Given the description of an element on the screen output the (x, y) to click on. 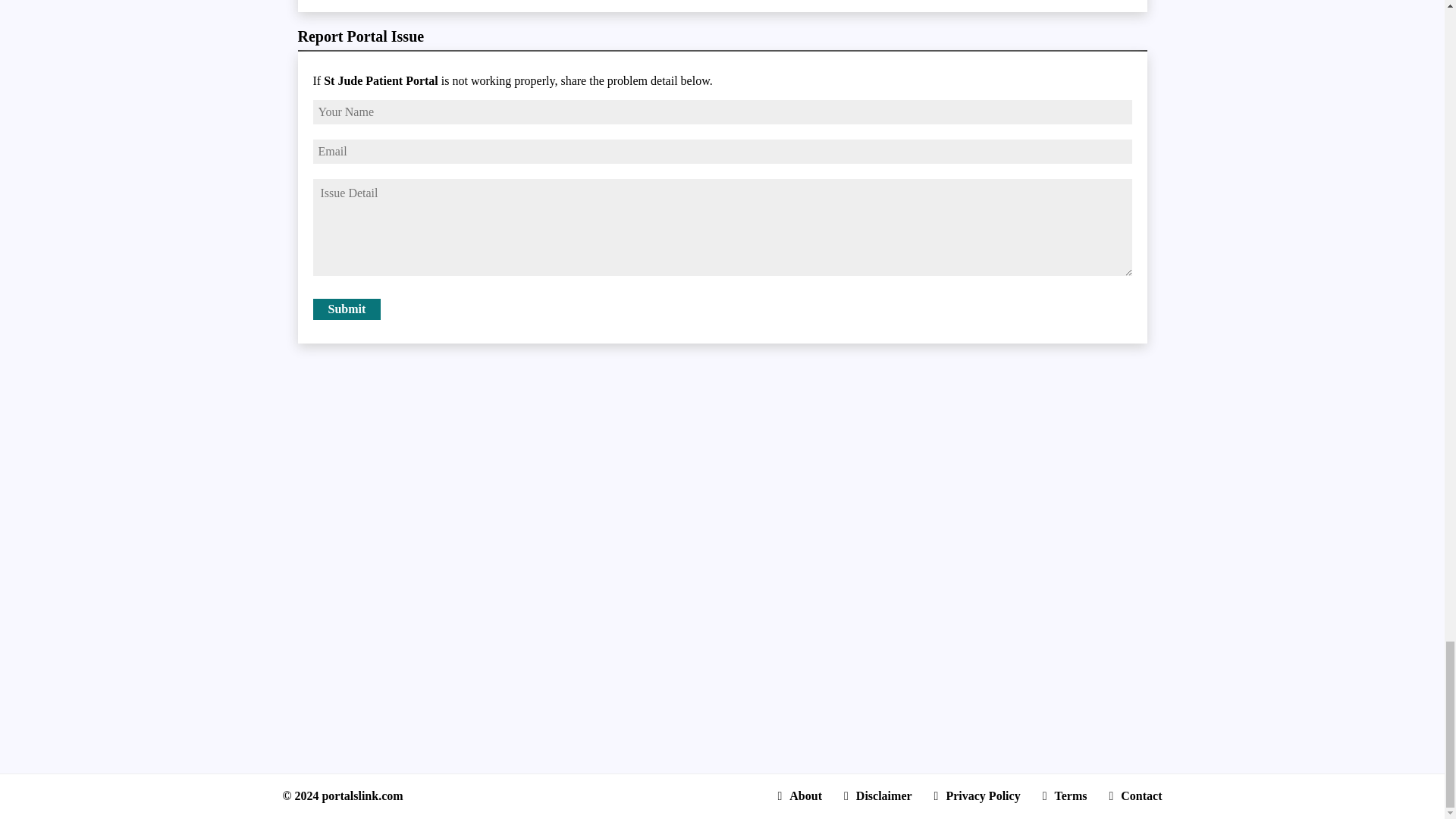
About (799, 796)
Contact (1134, 796)
Disclaimer (878, 796)
Submit (346, 309)
Terms (1064, 796)
Privacy Policy (977, 796)
Submit (346, 309)
